Given the description of an element on the screen output the (x, y) to click on. 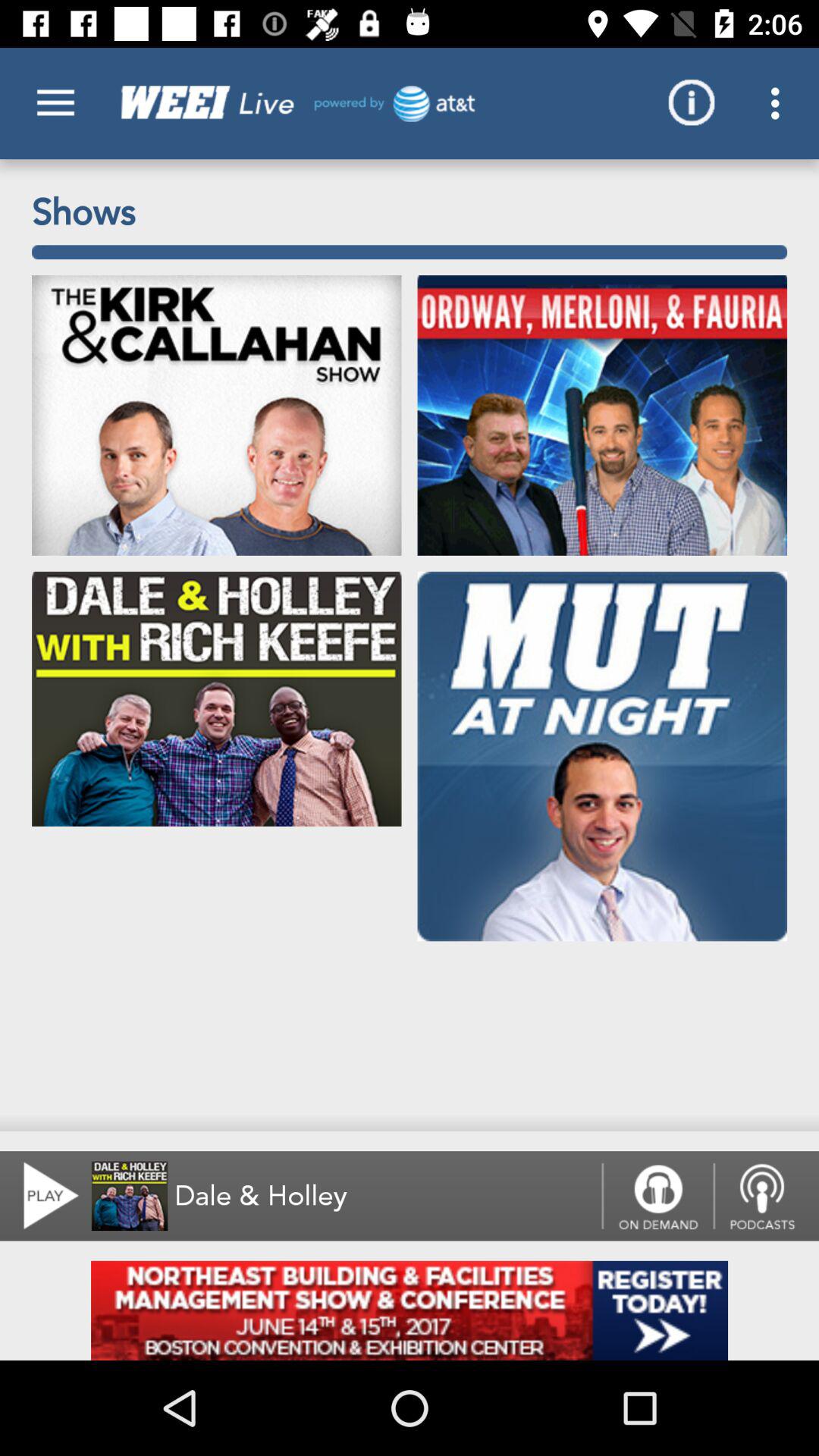
go to advertiser (409, 1310)
